Given the description of an element on the screen output the (x, y) to click on. 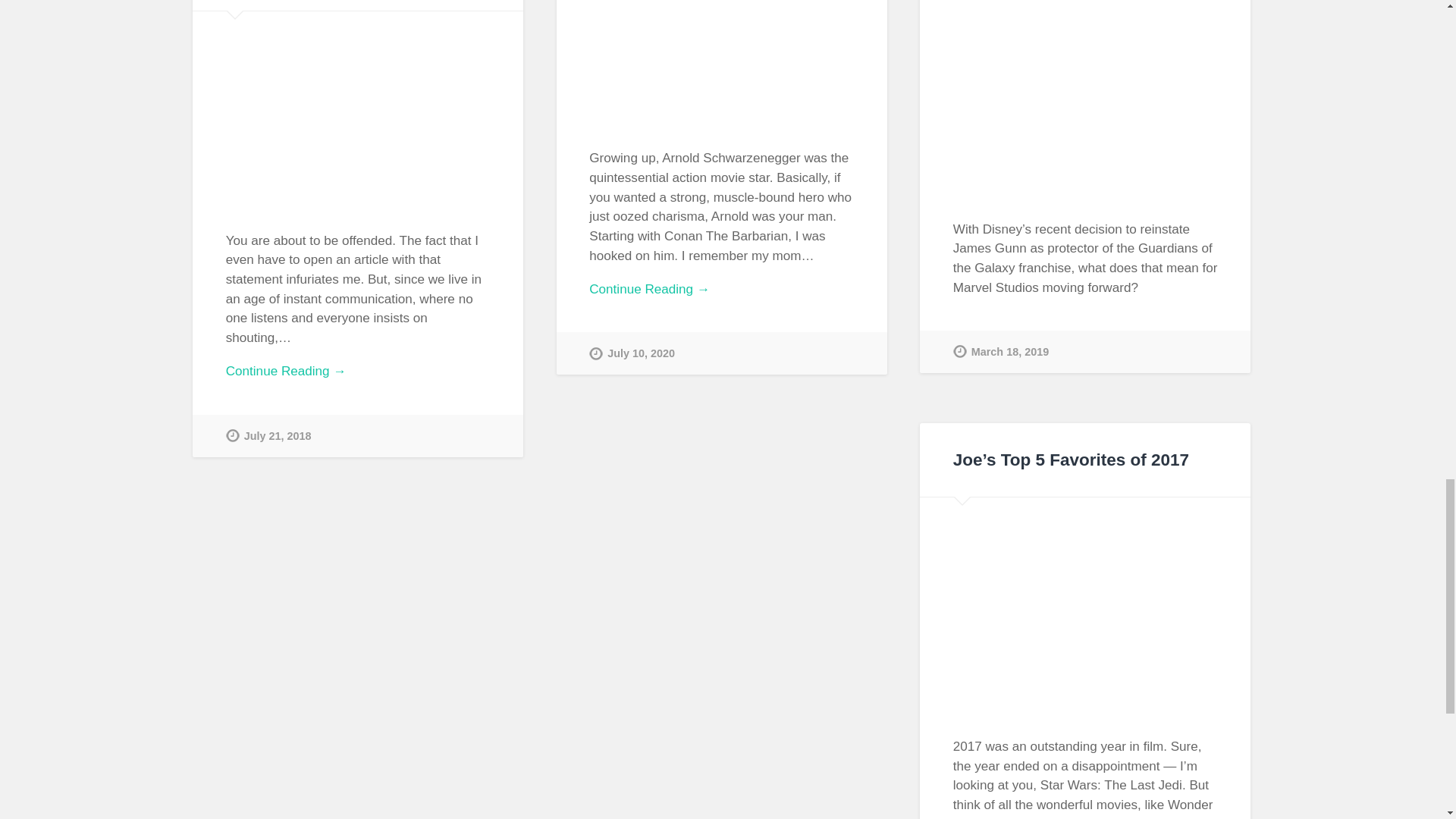
March 18, 2019 (1000, 351)
July 10, 2020 (632, 353)
